Given the description of an element on the screen output the (x, y) to click on. 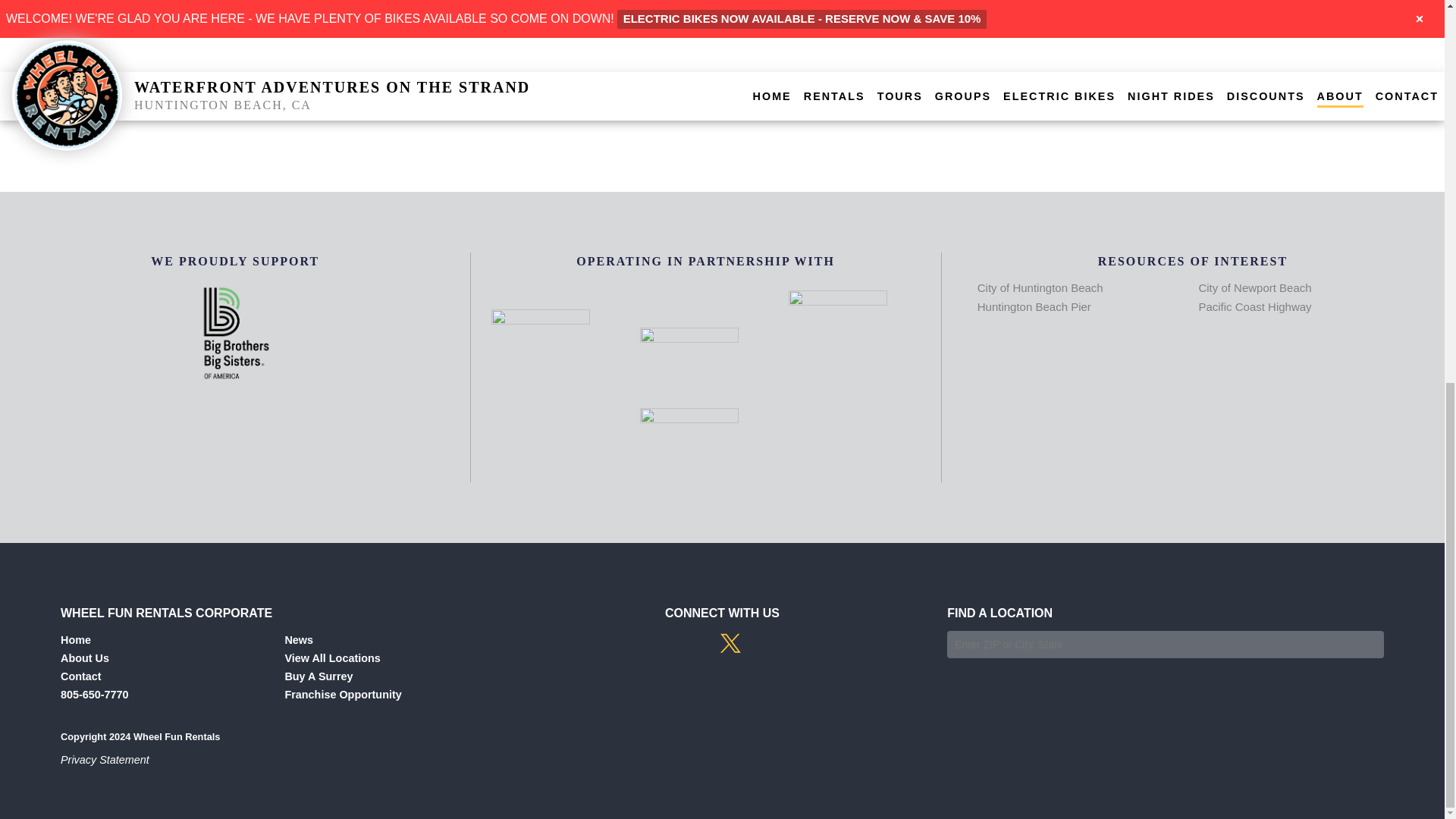
About Wheel Fun Rentals (85, 657)
All Rental Locations (331, 657)
Huntington Beach Pier (1033, 306)
Pacific Coast Highway (1254, 306)
City of Newport Beach (1254, 287)
Purchase a Quadricycle (317, 676)
City of Huntington Beach (1039, 287)
Home (75, 639)
